Given the description of an element on the screen output the (x, y) to click on. 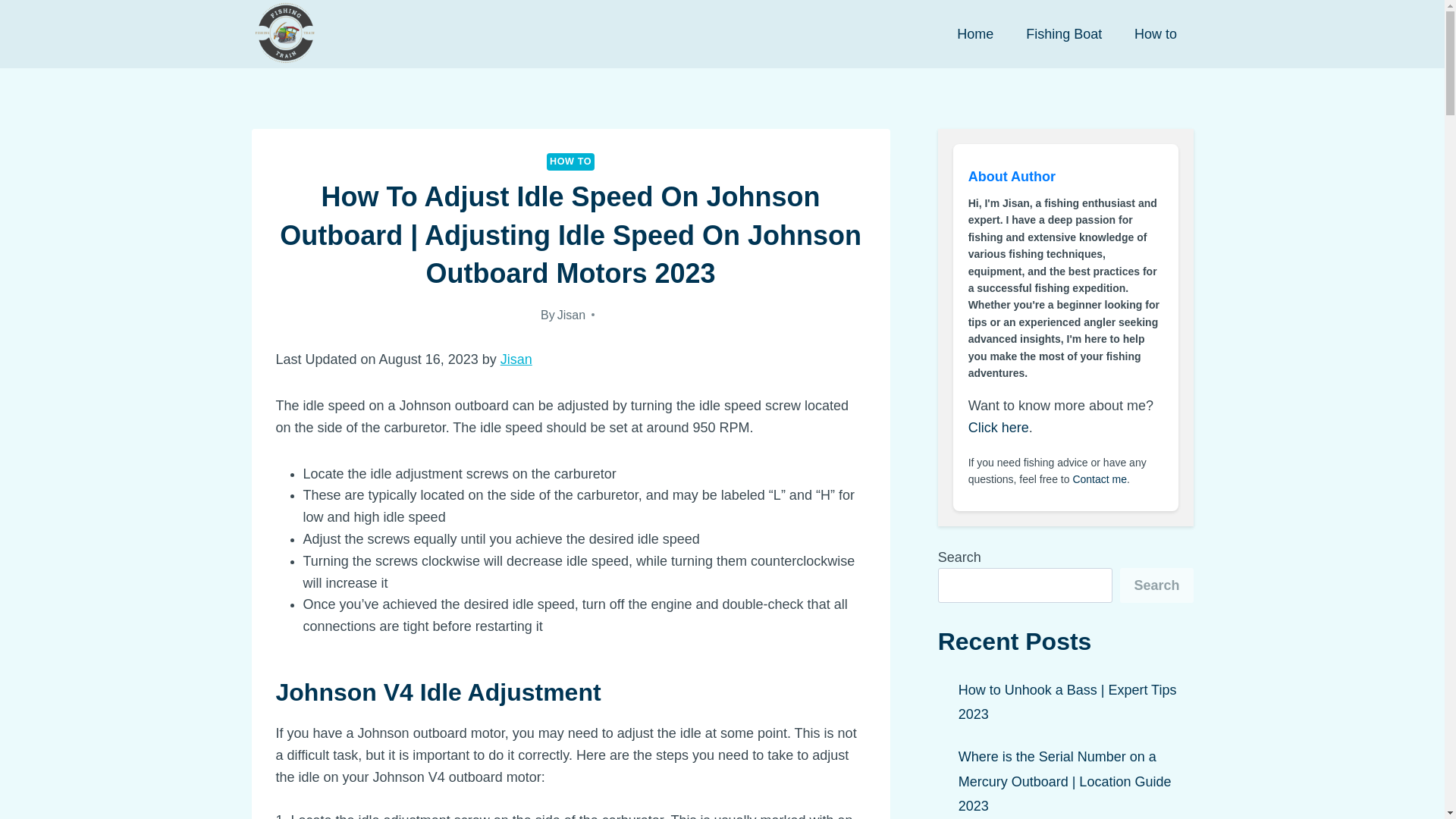
How to (1155, 34)
Jisan (516, 359)
Jisan (571, 314)
HOW TO (570, 161)
Fishing Boat (1064, 34)
Home (975, 34)
